Given the description of an element on the screen output the (x, y) to click on. 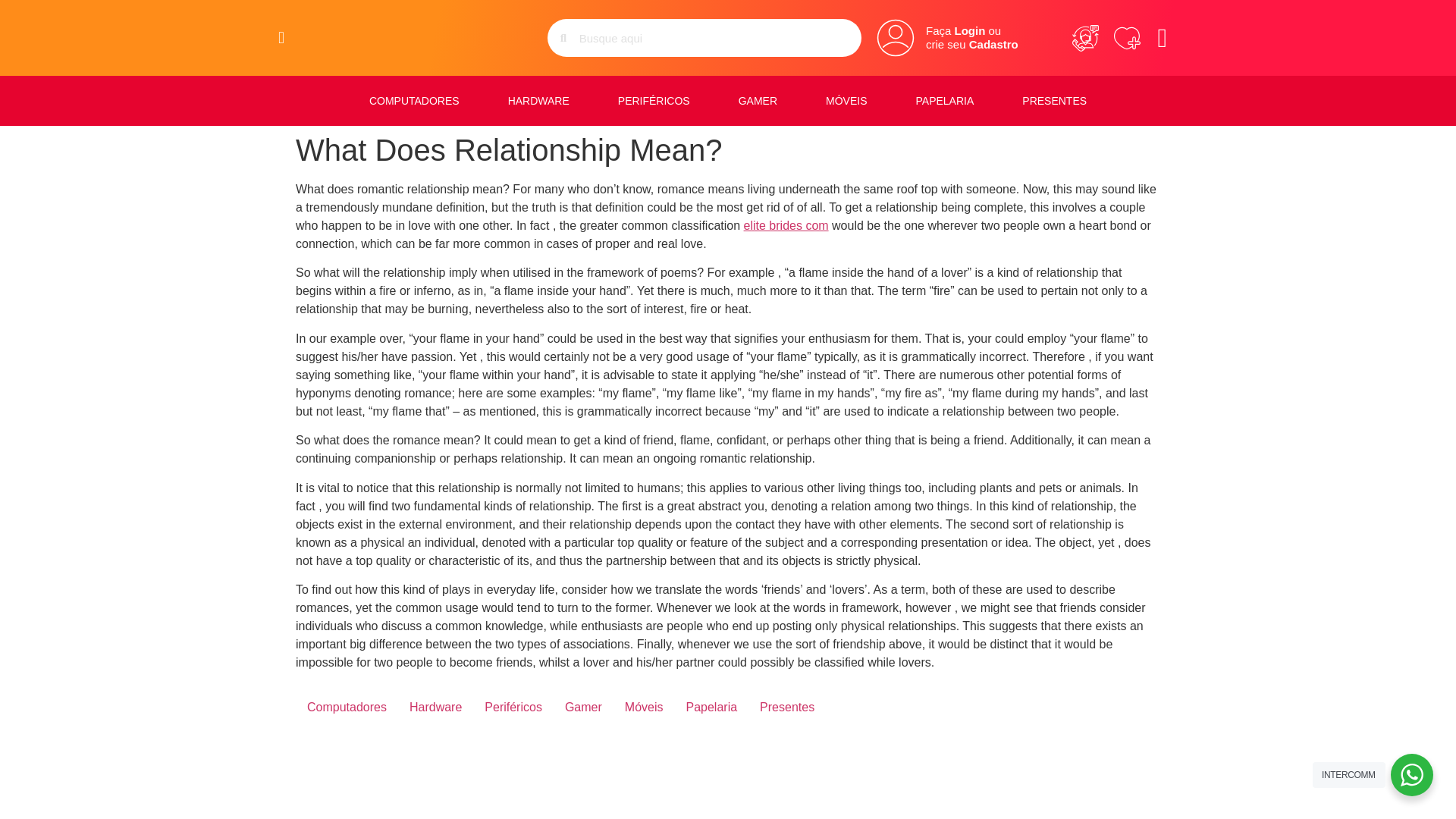
Hardware (435, 707)
PAPELARIA (944, 100)
PRESENTES (1053, 100)
Login (970, 30)
Cadastro (993, 43)
HARDWARE (538, 100)
COMPUTADORES (414, 100)
Computadores (346, 707)
elite brides com (786, 225)
GAMER (758, 100)
